Given the description of an element on the screen output the (x, y) to click on. 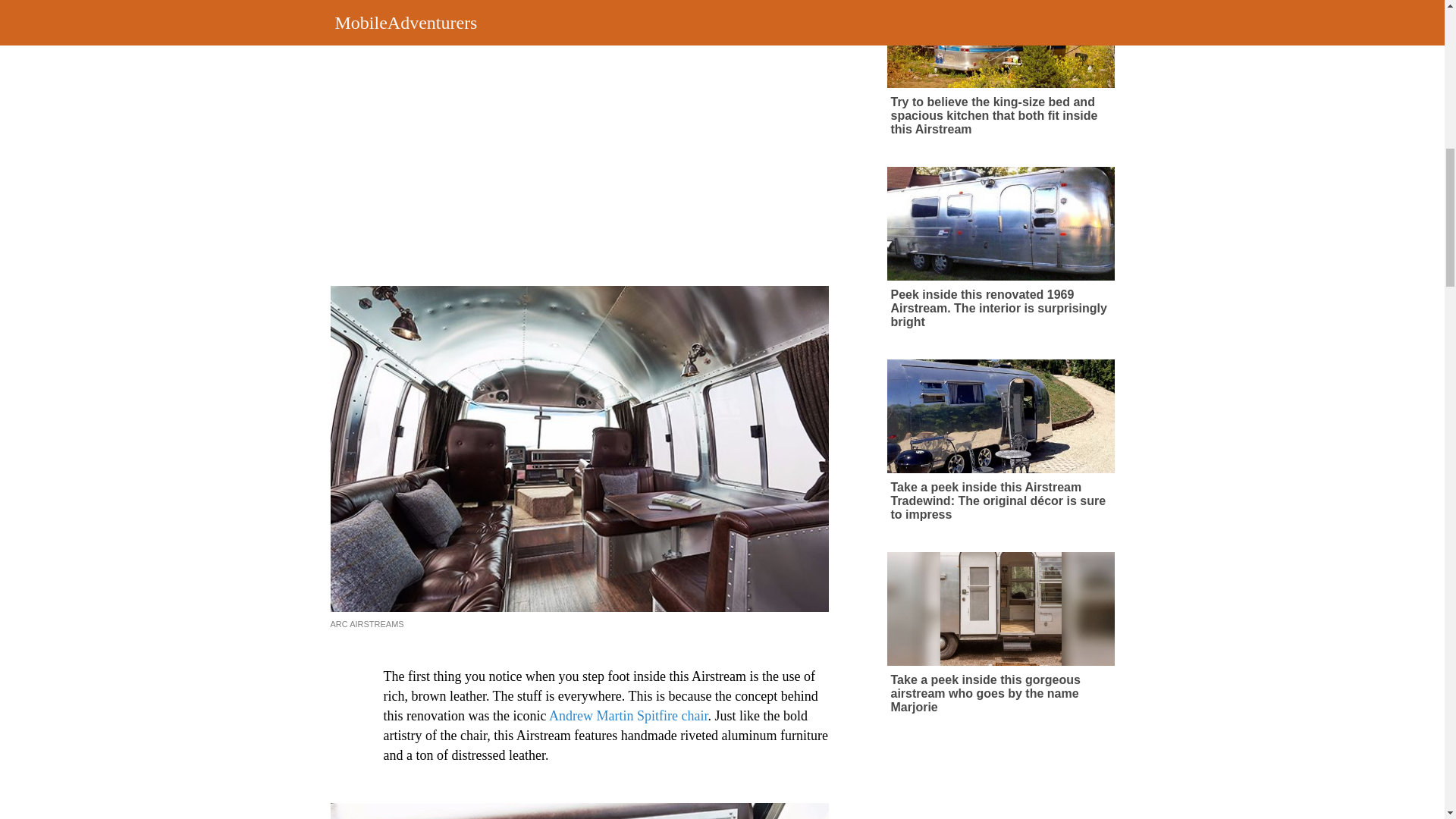
About Ads (652, 62)
Terms of Use (718, 62)
Advertisement (604, 138)
Andrew Martin Spitfire chair (627, 715)
Privacy Policy (791, 62)
Do Not Sell My Info (877, 62)
ARC AIRSTREAMS (367, 623)
